Given the description of an element on the screen output the (x, y) to click on. 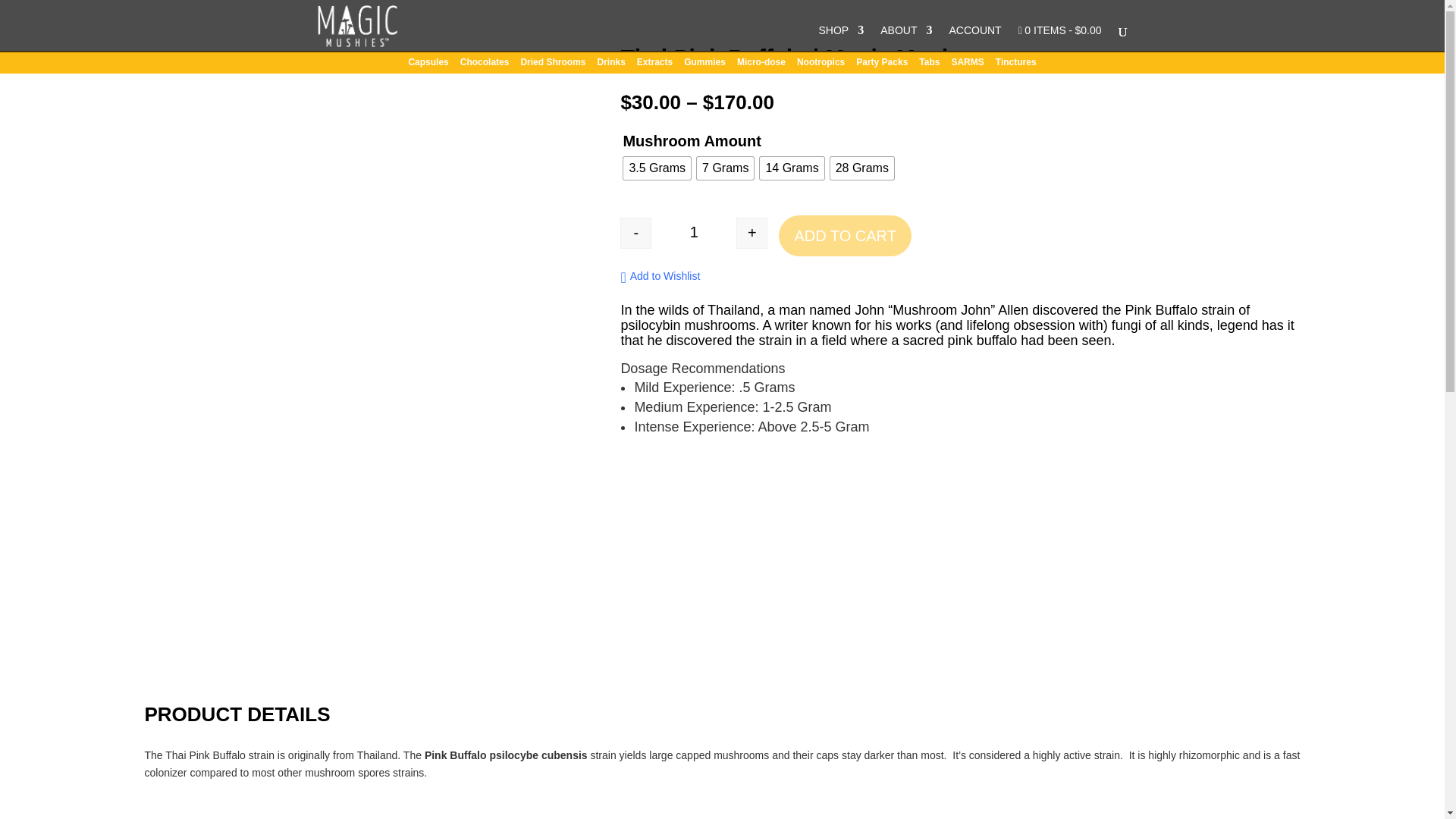
7 Grams (725, 168)
3.5 Grams (656, 168)
Party Packs (881, 65)
Gummies (704, 65)
Qty (693, 232)
1 (693, 232)
14 Grams (792, 168)
Micro-dose (761, 65)
Dried Shrooms (552, 65)
Extracts (654, 65)
28 Grams (861, 168)
Tabs (928, 65)
SHOP (841, 37)
SARMS (967, 65)
Drinks (610, 65)
